Given the description of an element on the screen output the (x, y) to click on. 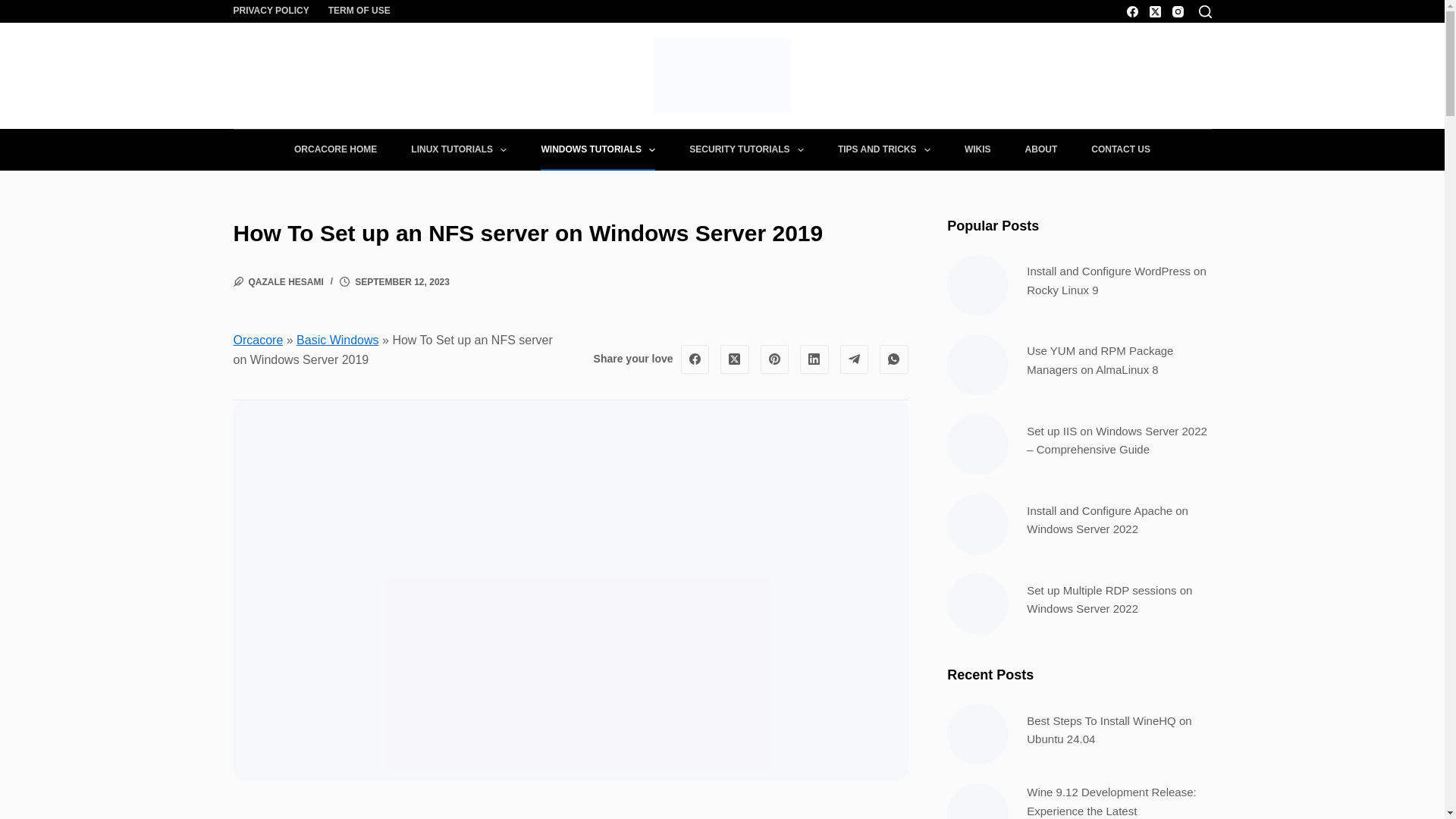
LINUX TUTORIALS (459, 149)
Skip to content (15, 7)
How To Set up an NFS server on Windows Server 2019 (570, 233)
TERM OF USE (358, 11)
WINDOWS TUTORIALS (598, 149)
Posts by Qazale Hesami (285, 281)
ORCACORE HOME (334, 149)
PRIVACY POLICY (275, 11)
